Given the description of an element on the screen output the (x, y) to click on. 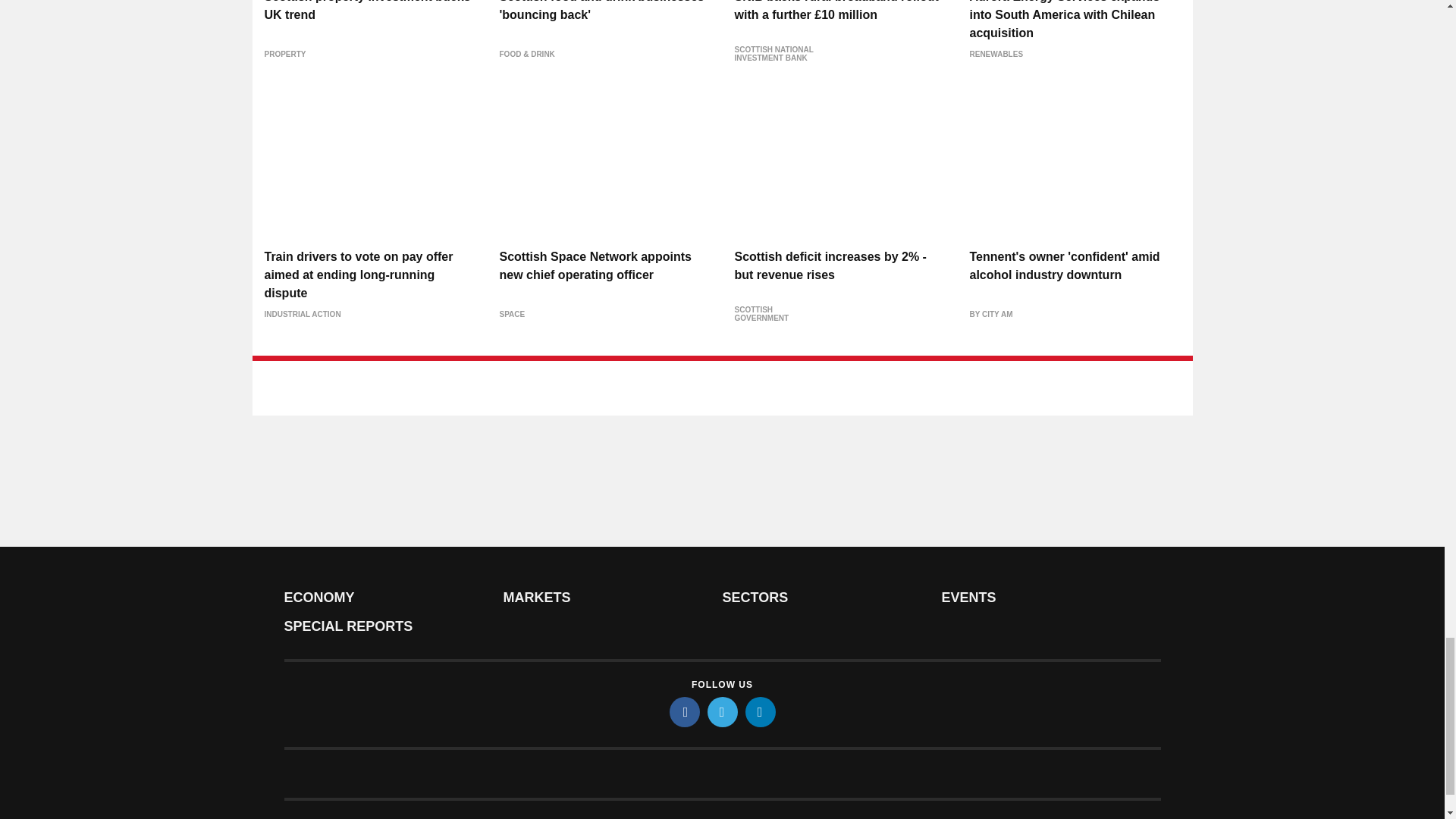
facebook (683, 711)
linkedin (759, 711)
twitter (721, 711)
